Given the description of an element on the screen output the (x, y) to click on. 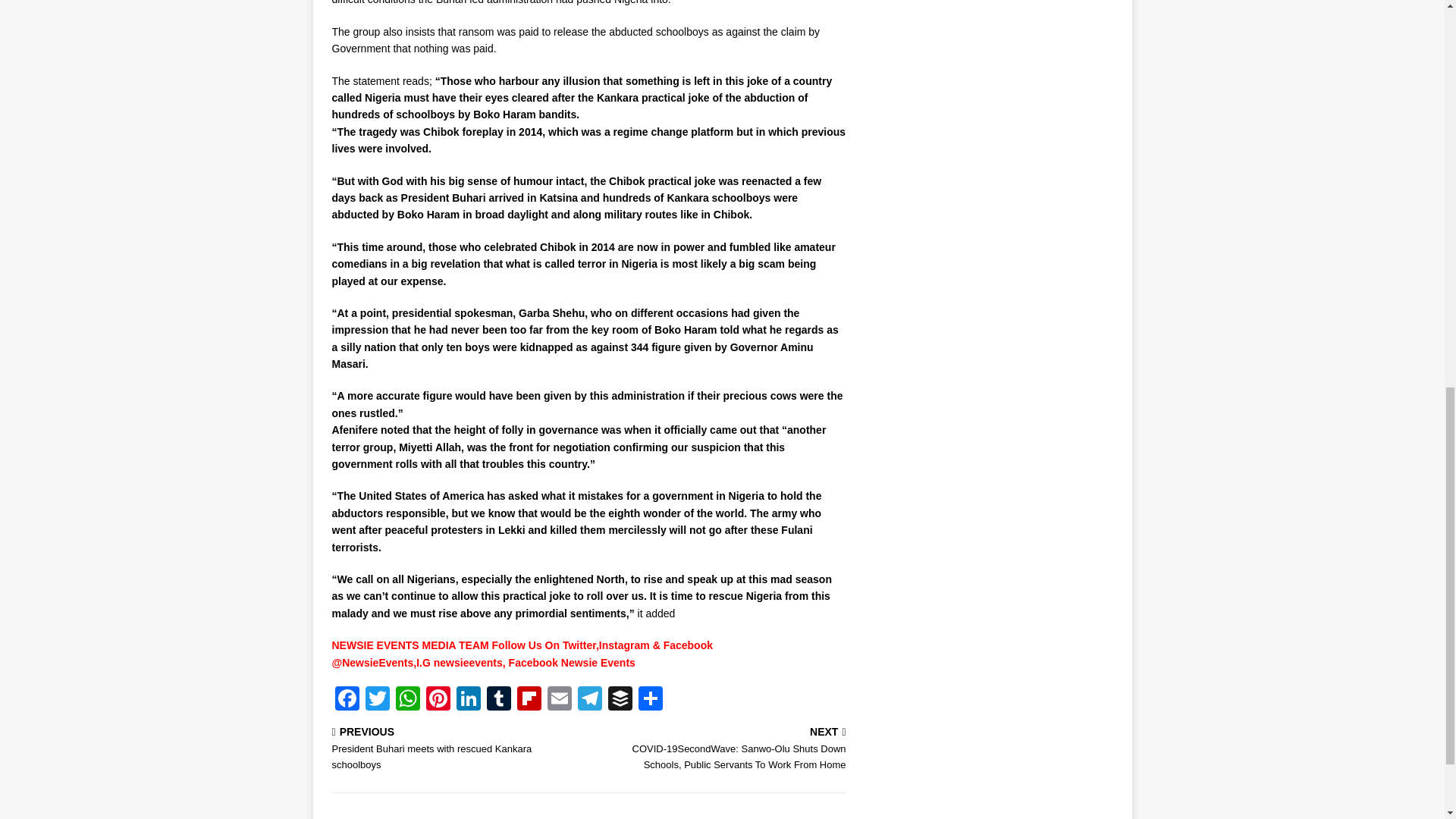
Facebook (346, 700)
Twitter (377, 700)
LinkedIn (467, 700)
Facebook (346, 700)
Email (559, 700)
LinkedIn (467, 700)
WhatsApp (408, 700)
Flipboard (528, 700)
Pinterest (437, 700)
Tumblr (498, 700)
Flipboard (528, 700)
WhatsApp (408, 700)
Telegram (590, 700)
Tumblr (498, 700)
Buffer (619, 700)
